Given the description of an element on the screen output the (x, y) to click on. 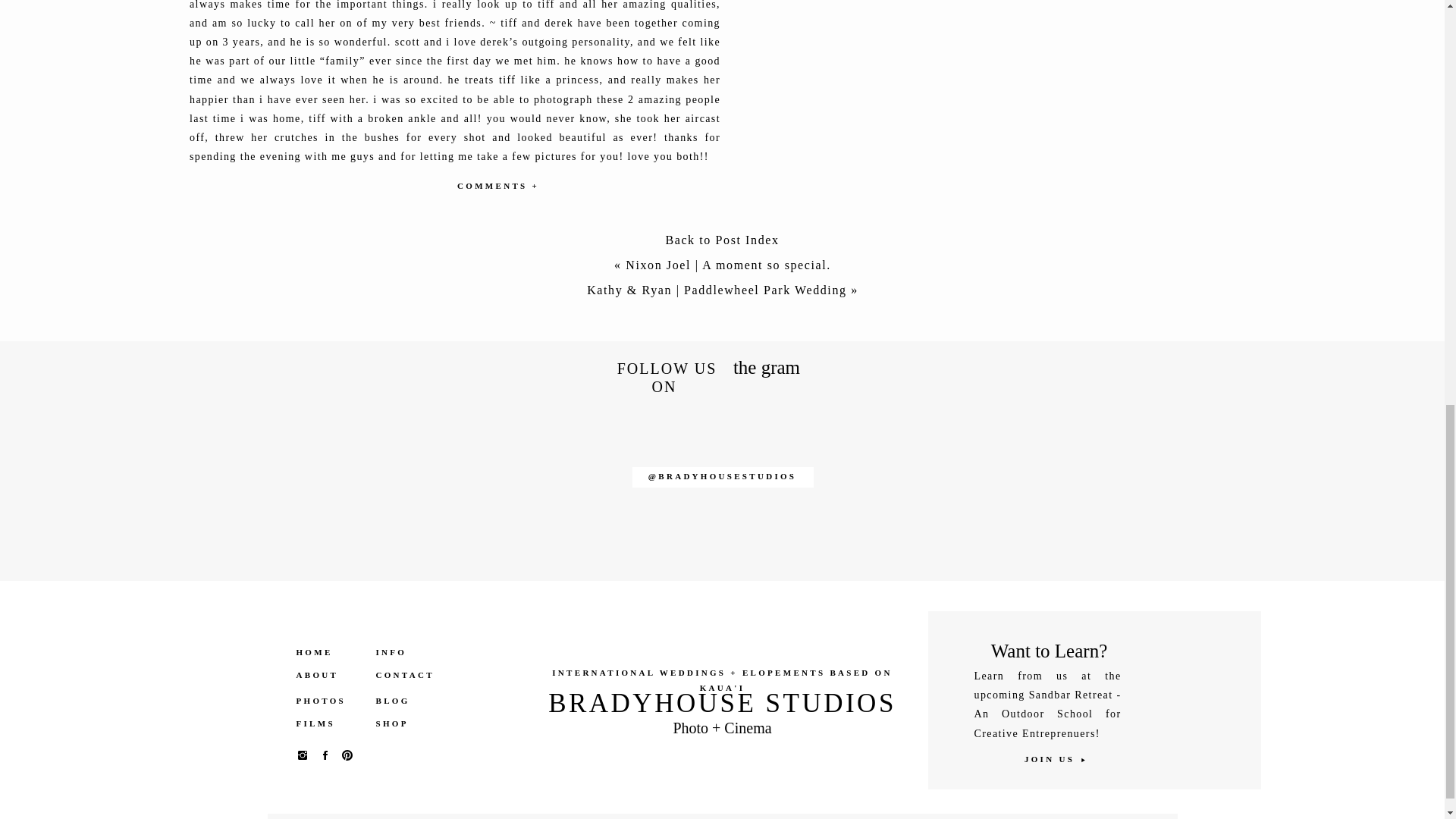
PHOTOS (327, 700)
ABOUT (327, 675)
Back to Post Index (721, 243)
FILMS (327, 723)
HOME (327, 652)
INFO (400, 652)
